Given the description of an element on the screen output the (x, y) to click on. 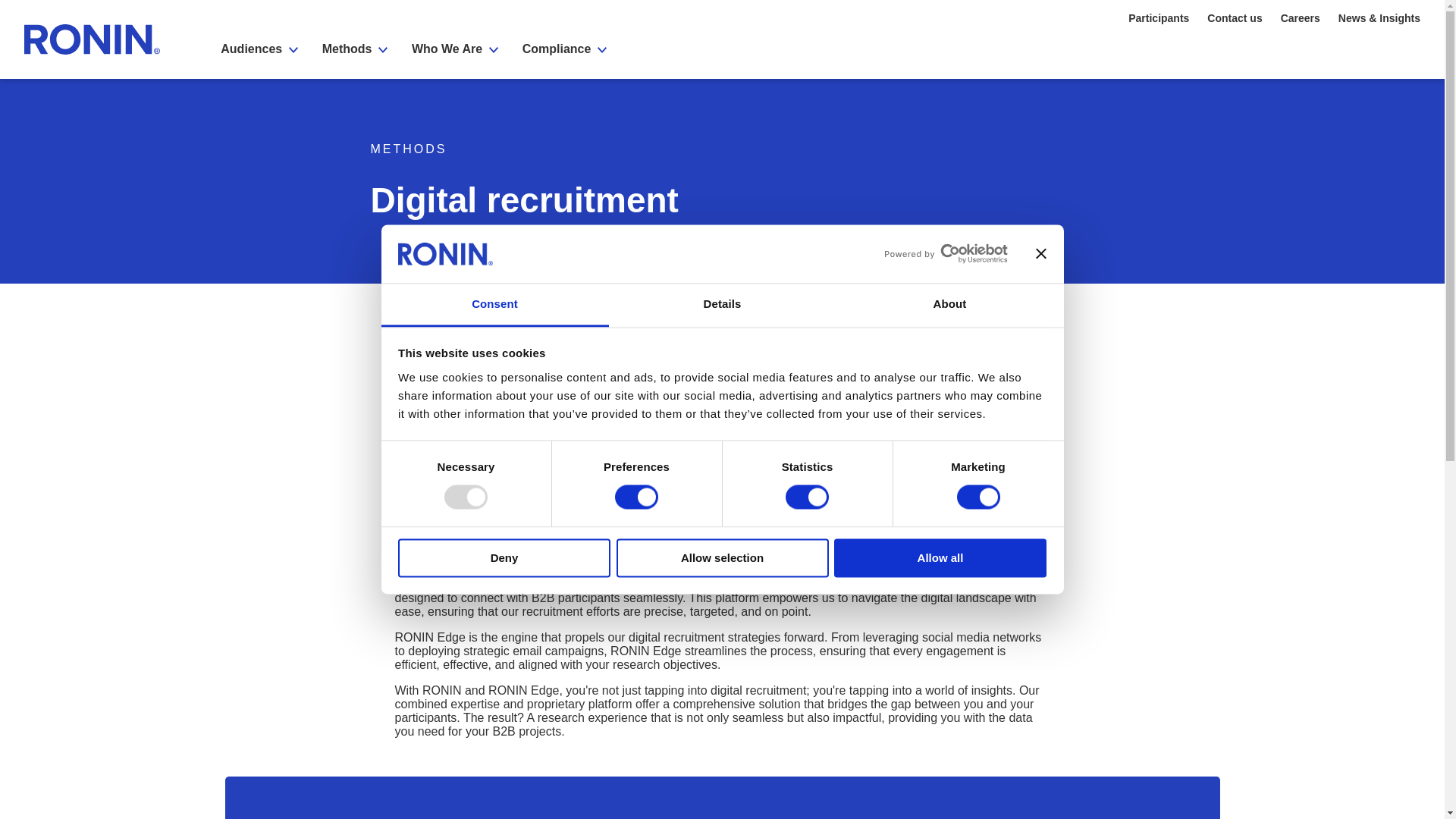
Allow all (940, 557)
Details (721, 304)
About (948, 304)
RONIN Edge (866, 570)
Allow selection (721, 557)
Consent (494, 304)
Deny (503, 557)
